Given the description of an element on the screen output the (x, y) to click on. 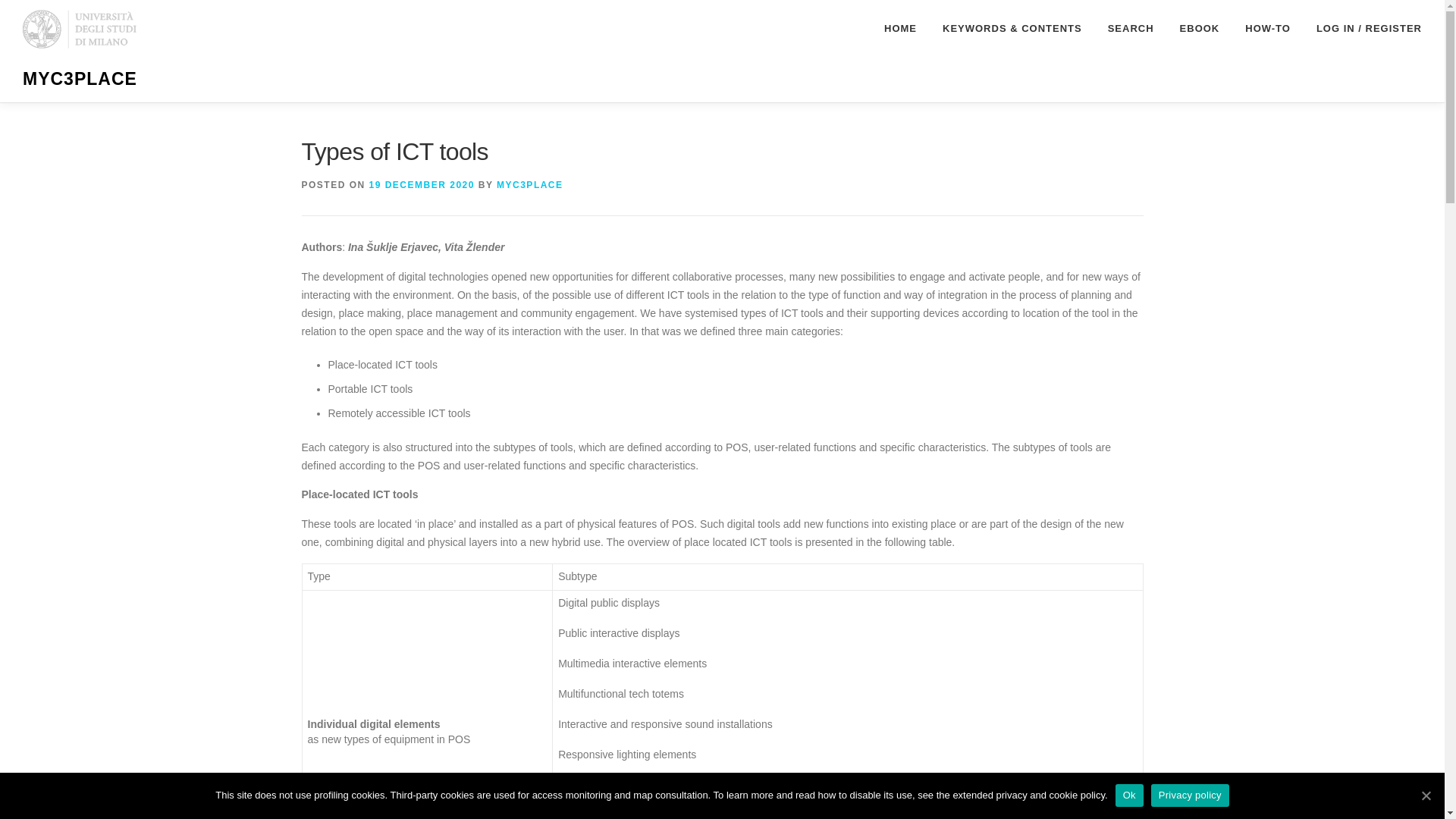
MYC3PLACE (79, 78)
Privacy policy (1189, 794)
19 DECEMBER 2020 (421, 184)
EBOOK (1200, 28)
SEARCH (1130, 28)
HOME (900, 28)
Skip to content (34, 9)
HOW-TO (1267, 28)
MYC3PLACE (529, 184)
Ok (1128, 794)
